Given the description of an element on the screen output the (x, y) to click on. 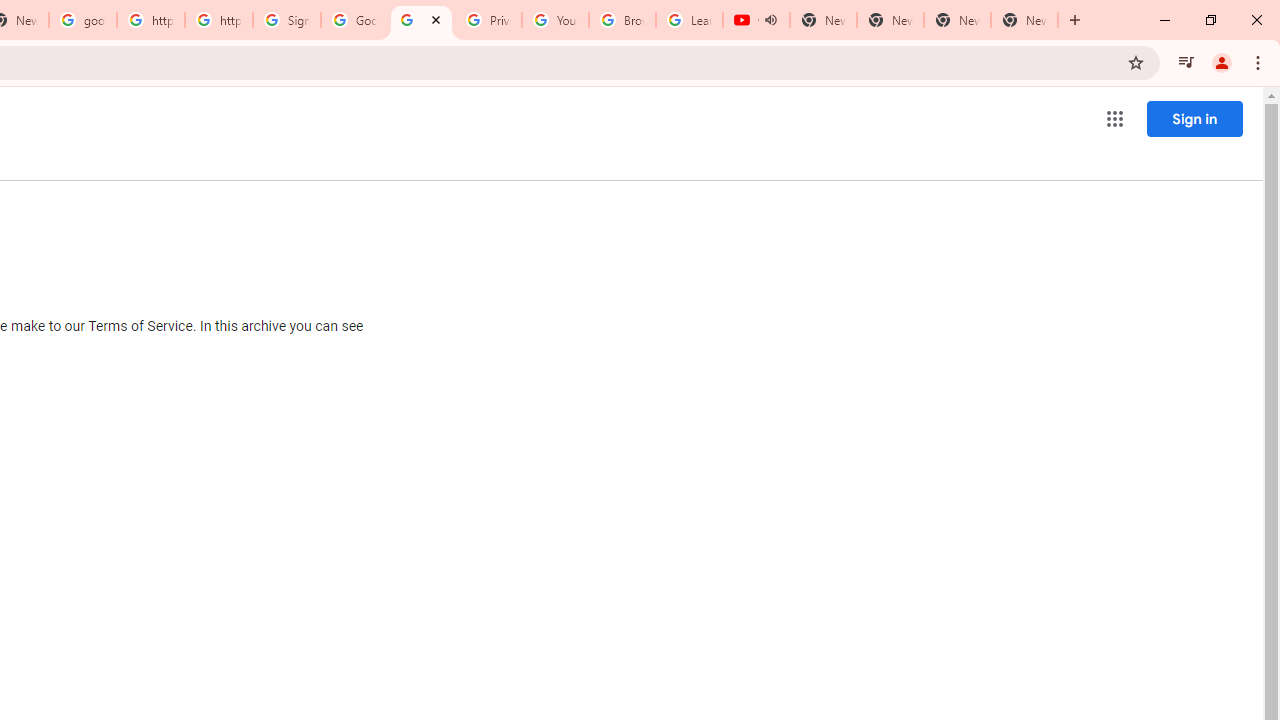
Mute tab (770, 20)
Control your music, videos, and more (1185, 62)
YouTube (555, 20)
Sign in - Google Accounts (287, 20)
